Given the description of an element on the screen output the (x, y) to click on. 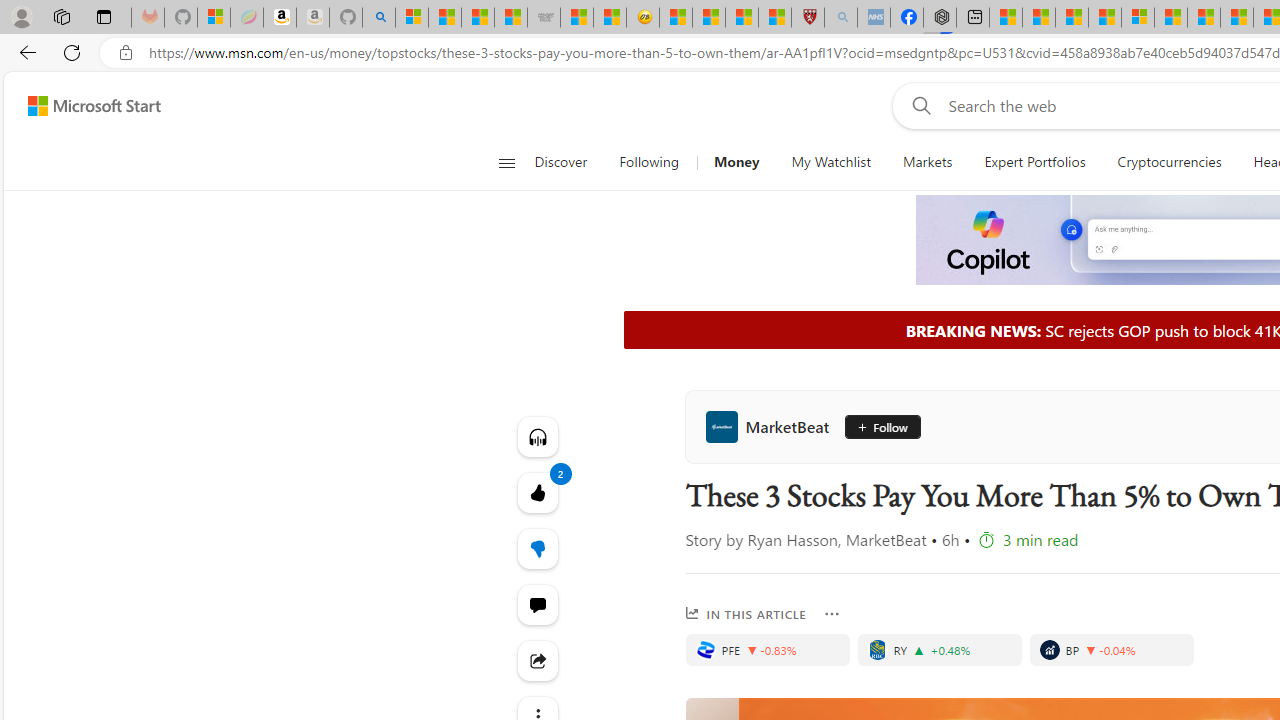
PFE, PFIZER INC.. Price is 28.79. Decreased by -0.83% (766, 650)
My Watchlist (830, 162)
ROYAL BANK OF CANADA (877, 650)
2 Like (537, 492)
